Given the description of an element on the screen output the (x, y) to click on. 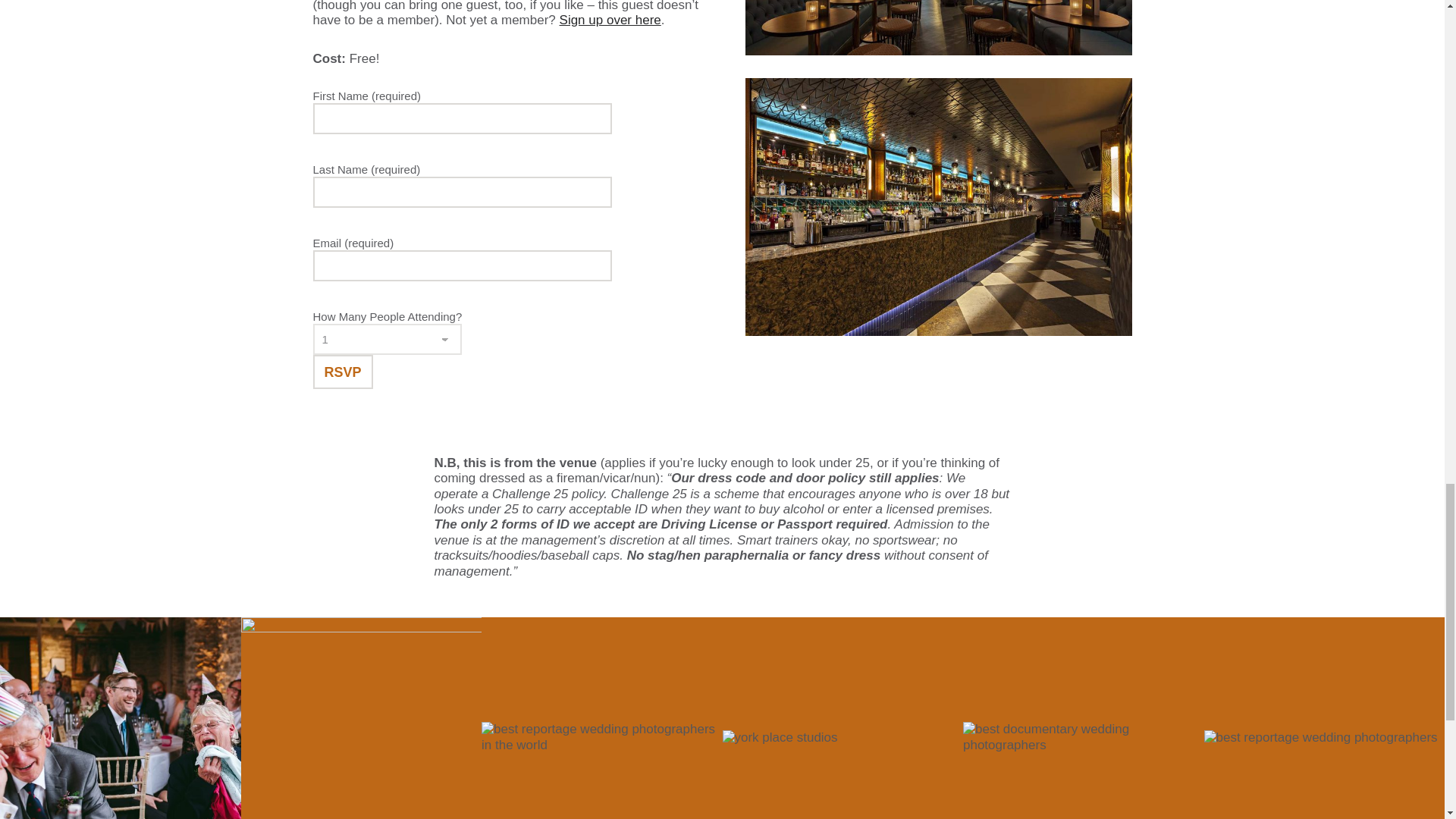
Sign up over here (610, 20)
RSVP (342, 371)
RSVP (342, 371)
